Given the description of an element on the screen output the (x, y) to click on. 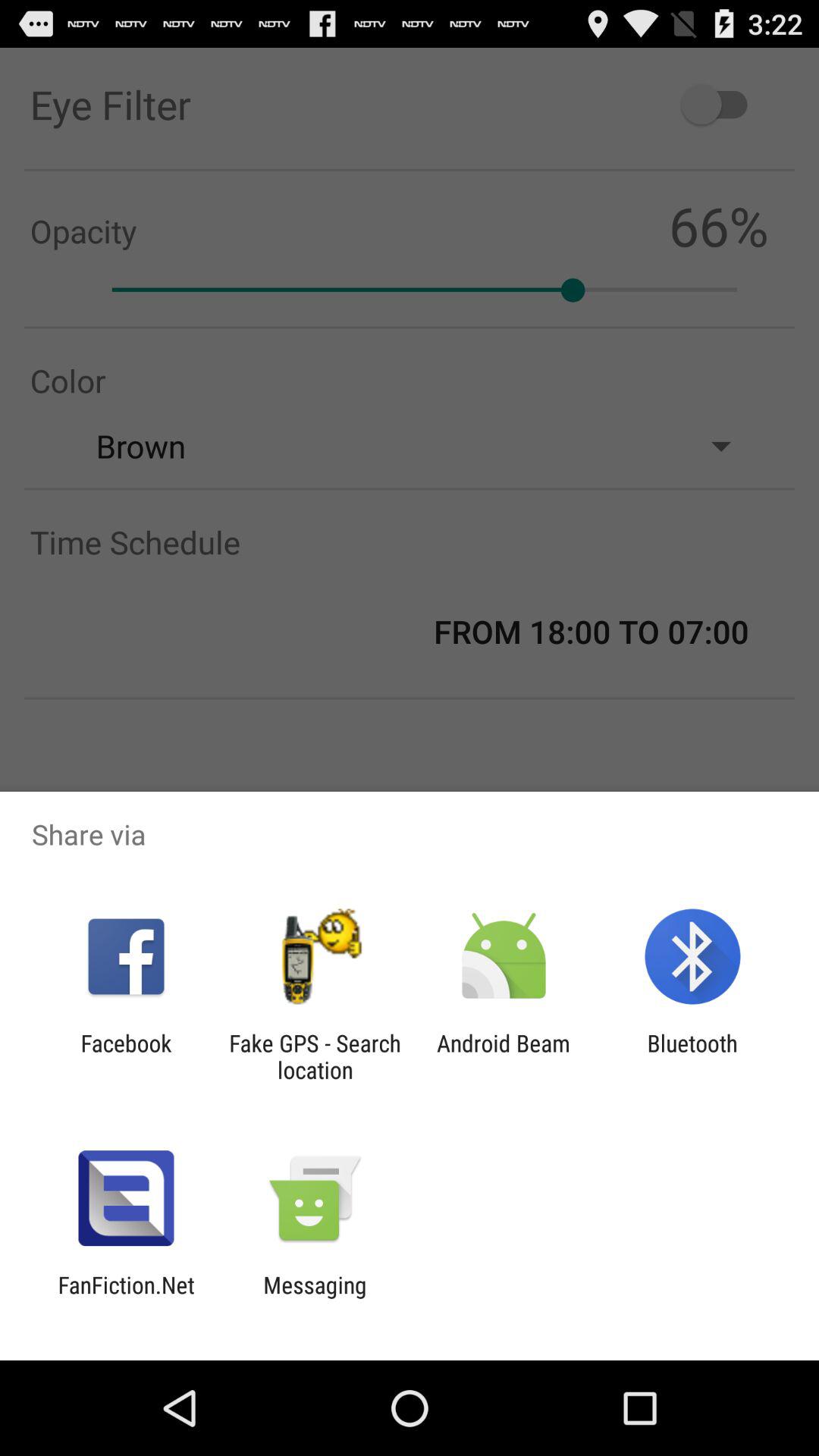
select the item to the right of the fanfiction.net (314, 1298)
